Given the description of an element on the screen output the (x, y) to click on. 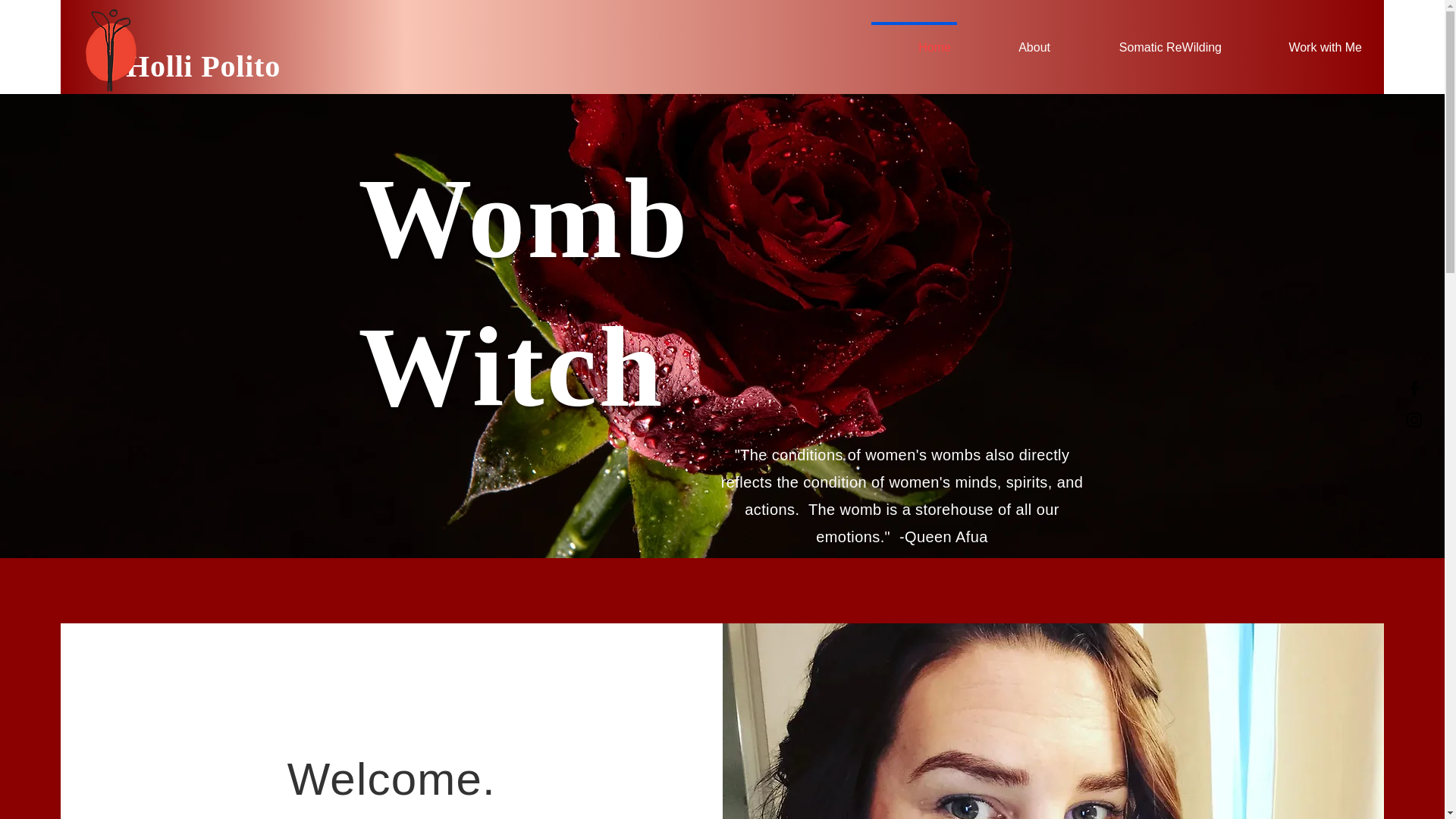
Work with Me (1304, 40)
Somatic ReWilding (1149, 40)
About (1013, 40)
Home (913, 40)
Holli Polito (203, 66)
